Given the description of an element on the screen output the (x, y) to click on. 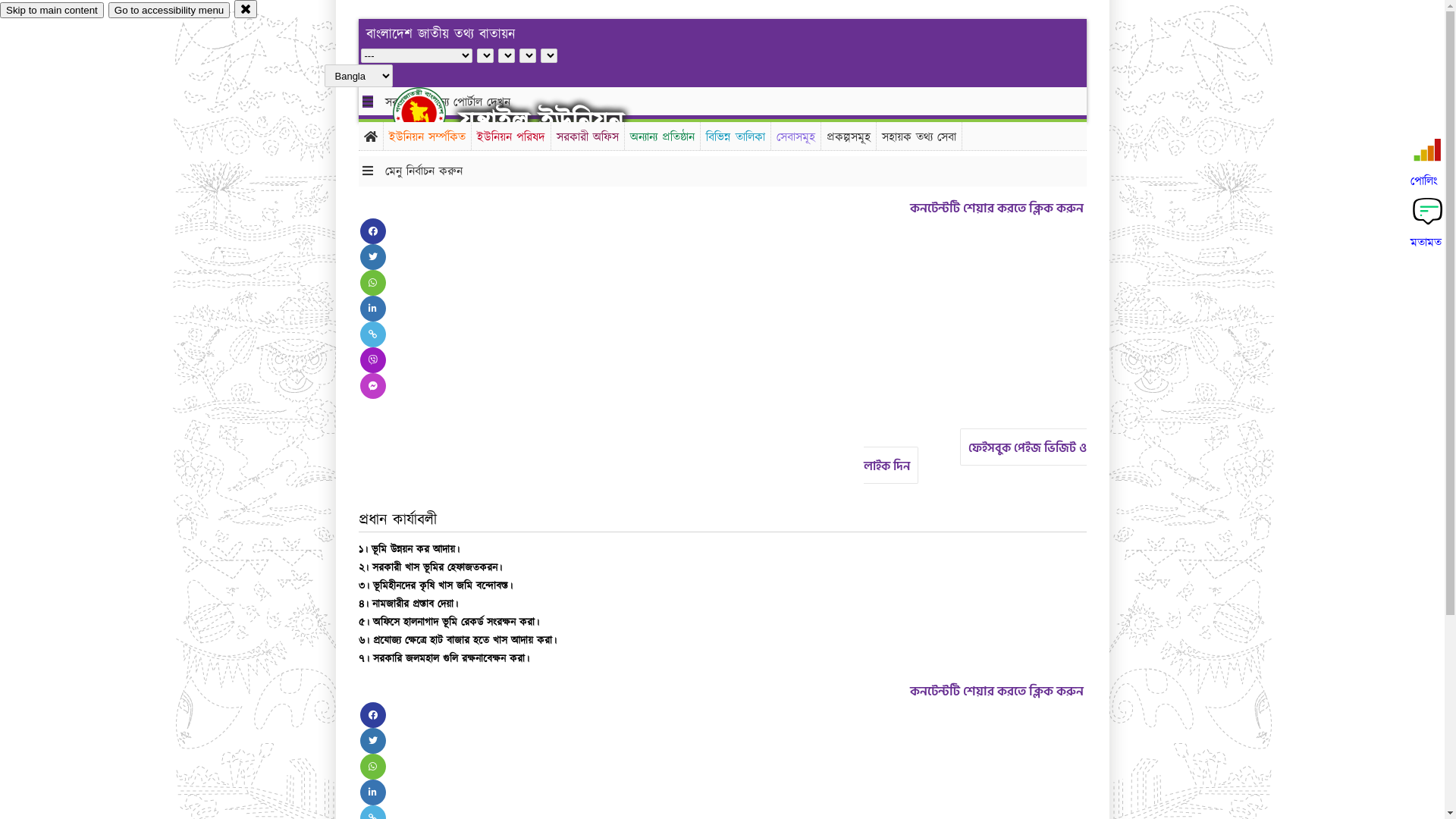
Skip to main content Element type: text (51, 10)
Go to accessibility menu Element type: text (168, 10)

                
             Element type: hover (431, 112)
close Element type: hover (245, 9)
